Given the description of an element on the screen output the (x, y) to click on. 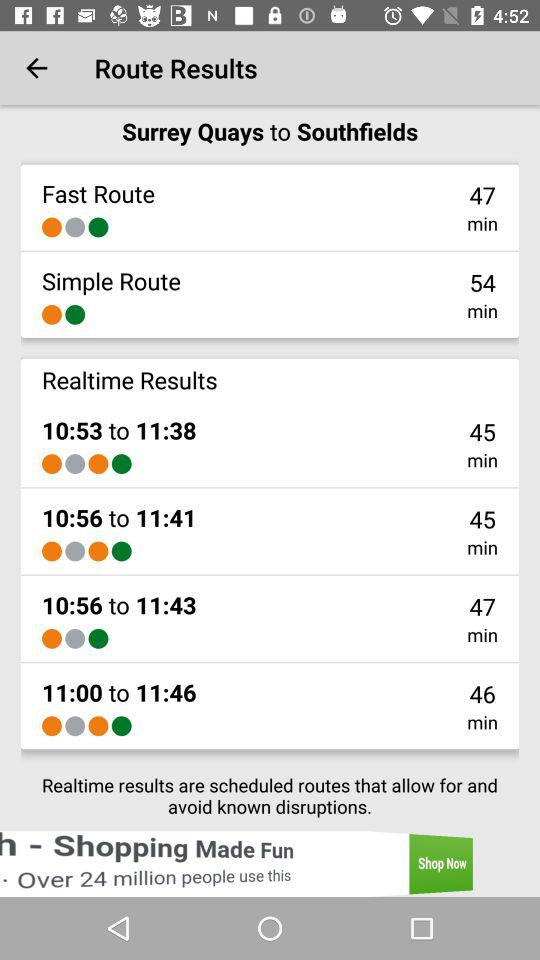
toggle shop addresss (270, 864)
